Given the description of an element on the screen output the (x, y) to click on. 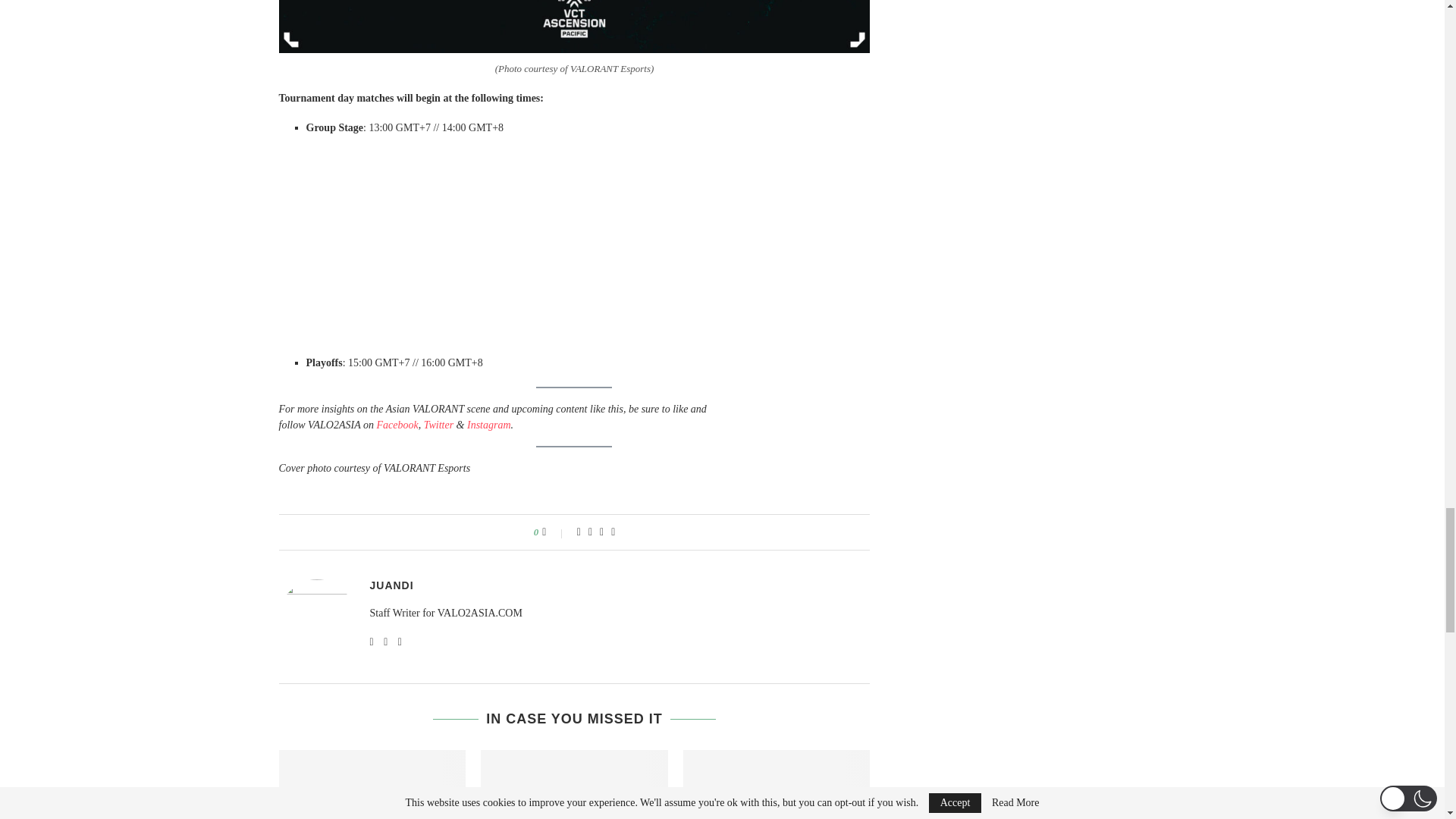
T1 Sayaplayer set to enter free agency (776, 784)
Author Juandi (391, 585)
Like (553, 532)
